Given the description of an element on the screen output the (x, y) to click on. 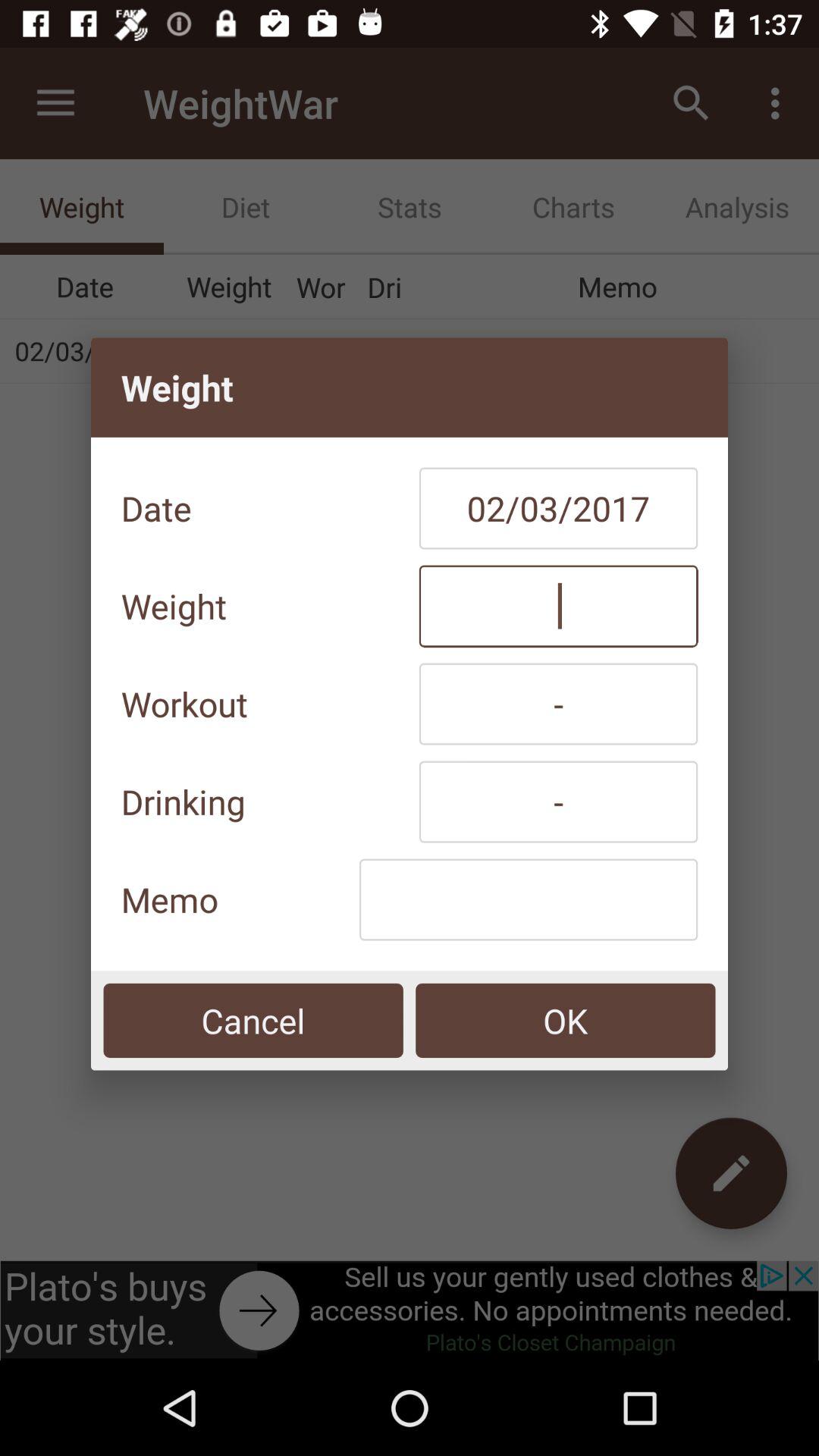
turn on the item below the workout item (558, 801)
